Given the description of an element on the screen output the (x, y) to click on. 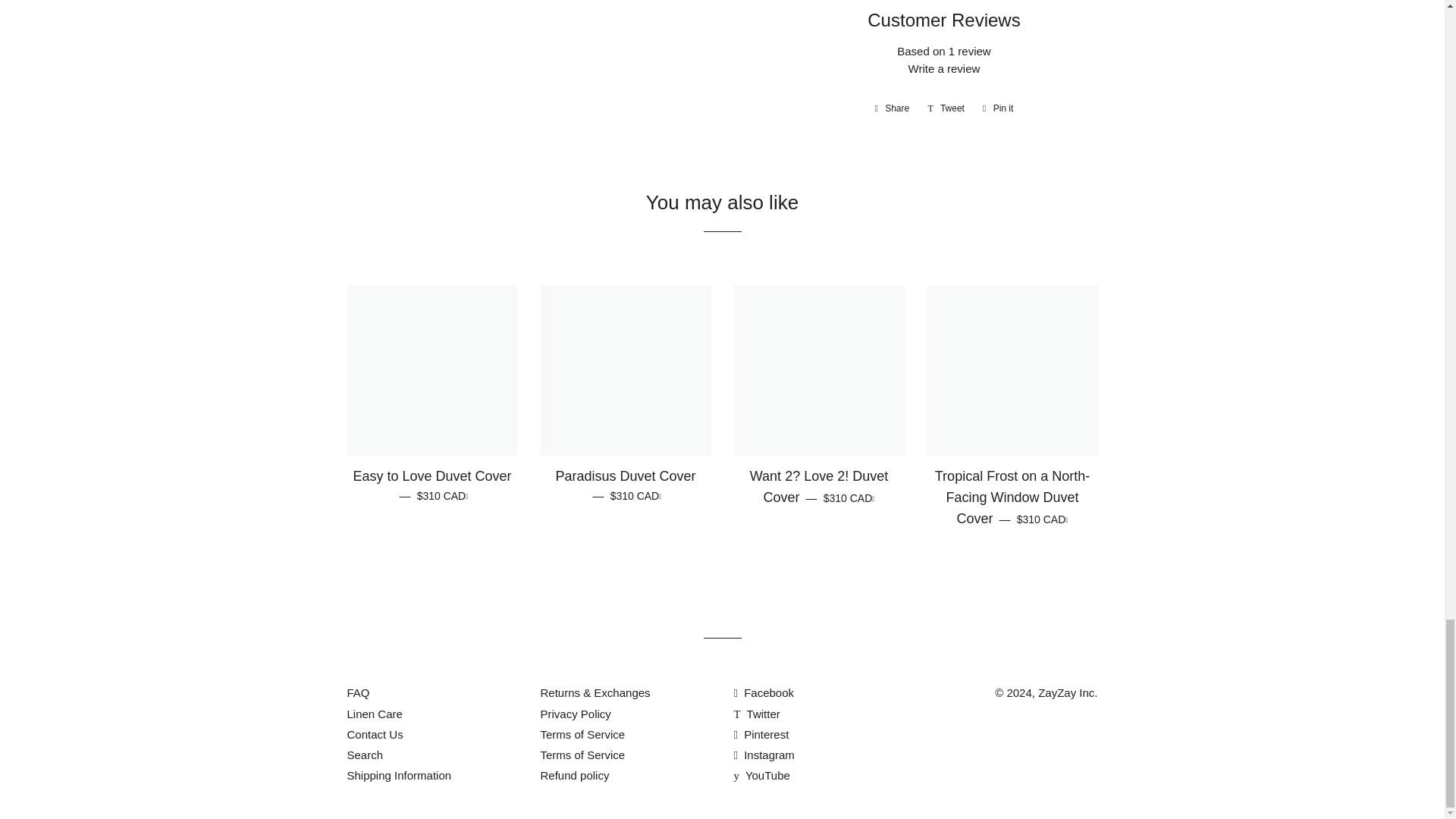
ZayZay Inc. on Instagram (763, 754)
ZayZay Inc. on Twitter (756, 713)
Share on Facebook (892, 108)
Pin on Pinterest (997, 108)
ZayZay Inc. on Pinterest (761, 734)
ZayZay Inc. on YouTube (761, 775)
Tweet on Twitter (946, 108)
ZayZay Inc. on Facebook (763, 692)
